Given the description of an element on the screen output the (x, y) to click on. 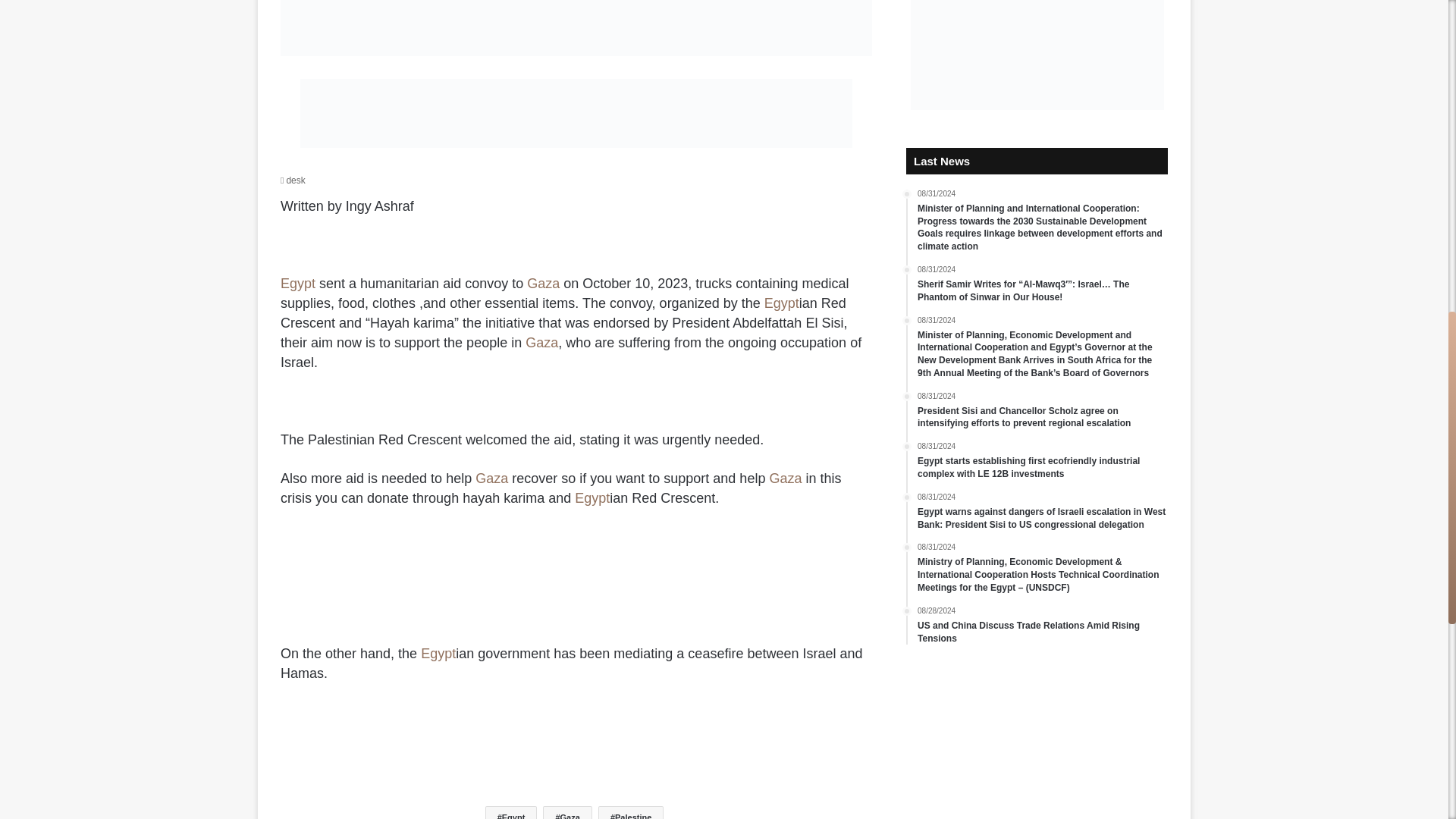
Gaza (785, 478)
desk (293, 180)
Egypt (437, 653)
Egypt (781, 303)
Egypt (298, 283)
Gaza (492, 478)
Gaza (567, 812)
Gaza (541, 342)
Egypt (510, 812)
desk (293, 180)
